Given the description of an element on the screen output the (x, y) to click on. 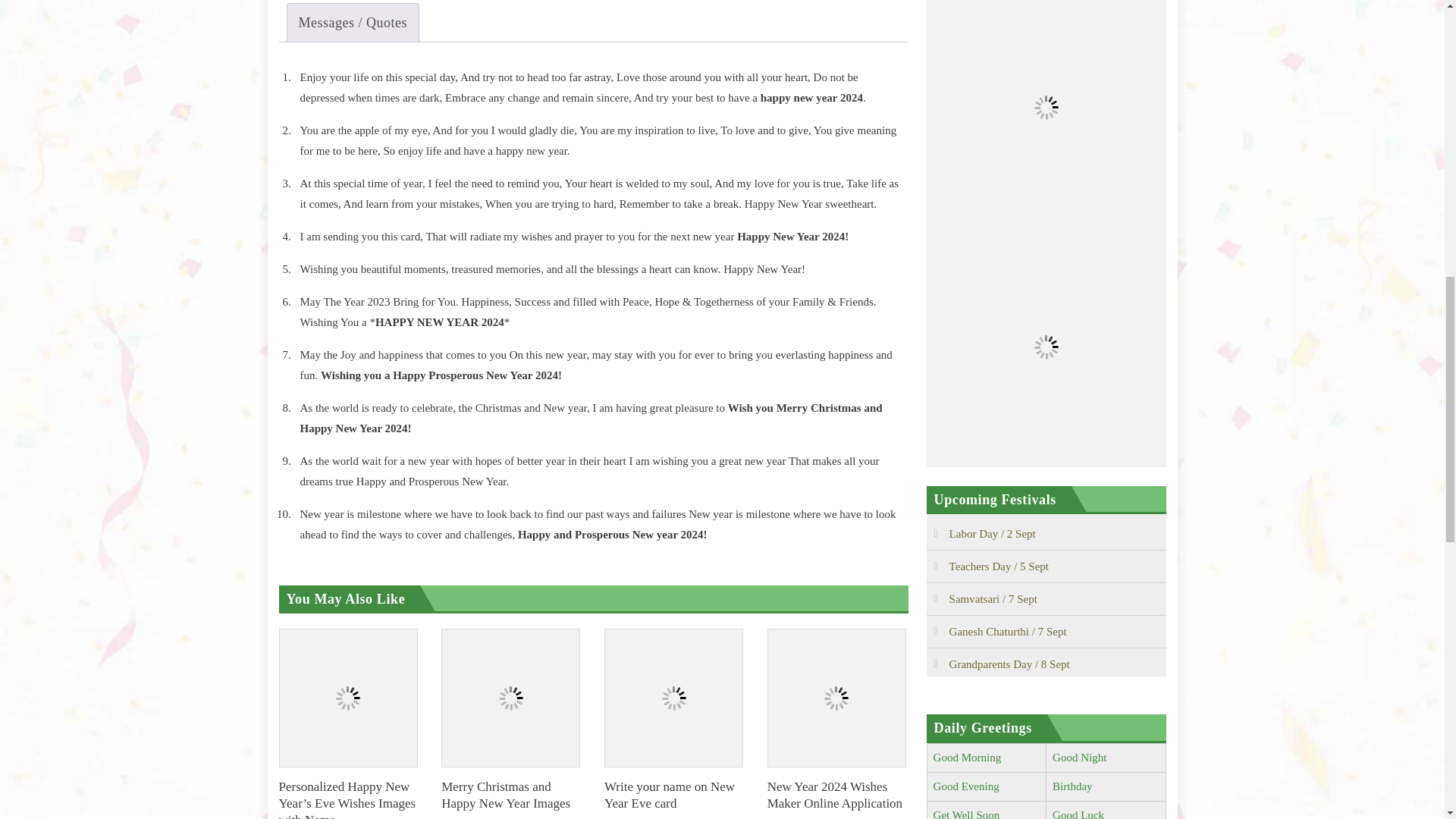
Get Well Soon (966, 814)
Good Morning (967, 757)
Good Night (1079, 757)
Good Evening (965, 786)
Happy Birthday (1072, 786)
